Given the description of an element on the screen output the (x, y) to click on. 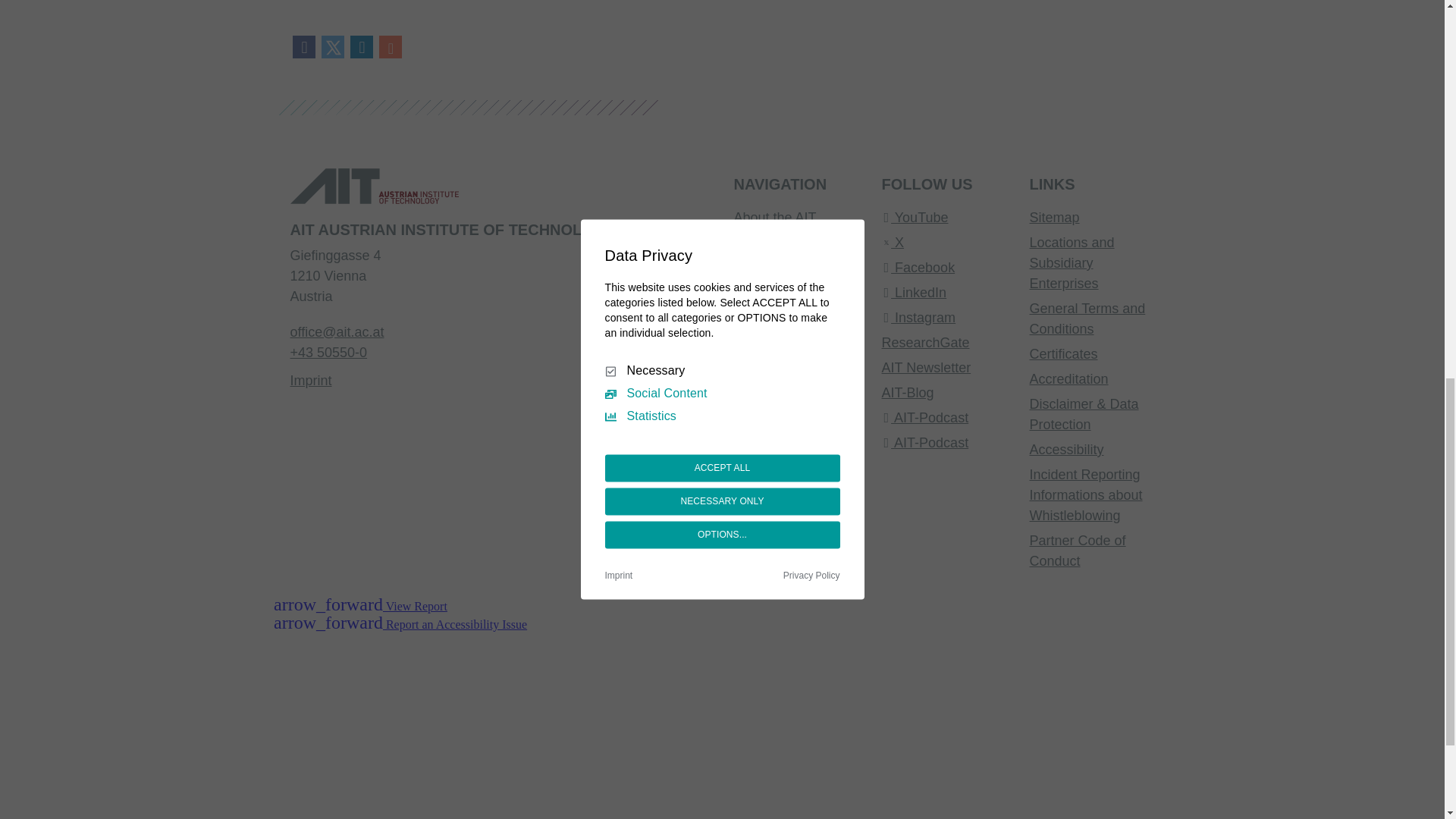
AIT - Austrian Institute Of Technology (365, 190)
Bei LinkedIn teilen (361, 46)
Bei AddThis teilen (390, 46)
Bei Twitter teilen (333, 46)
Bei Facebook teilen (304, 46)
WACA Zertifikat (482, 699)
